Given the description of an element on the screen output the (x, y) to click on. 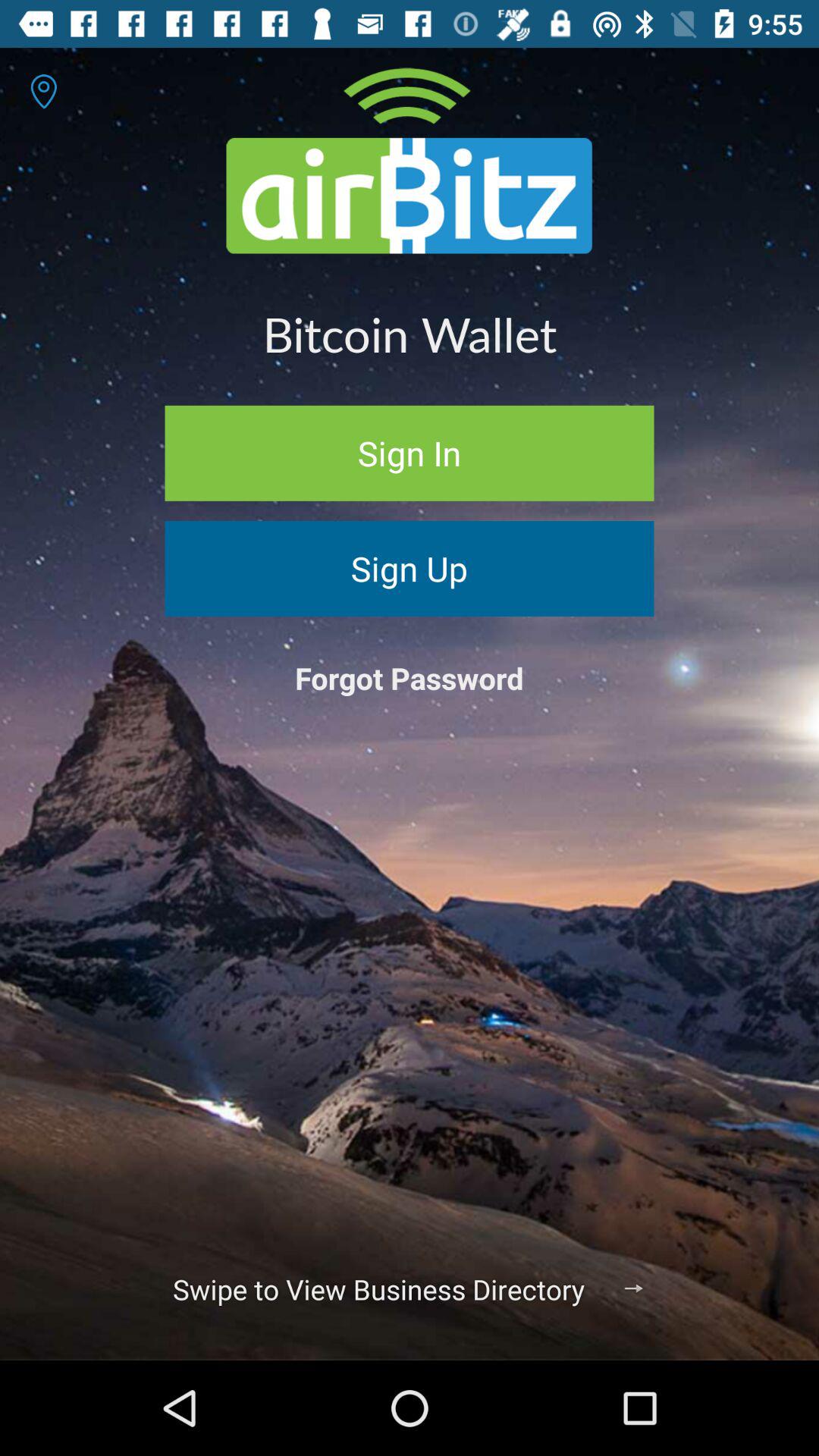
launch icon above the forgot password (409, 568)
